Given the description of an element on the screen output the (x, y) to click on. 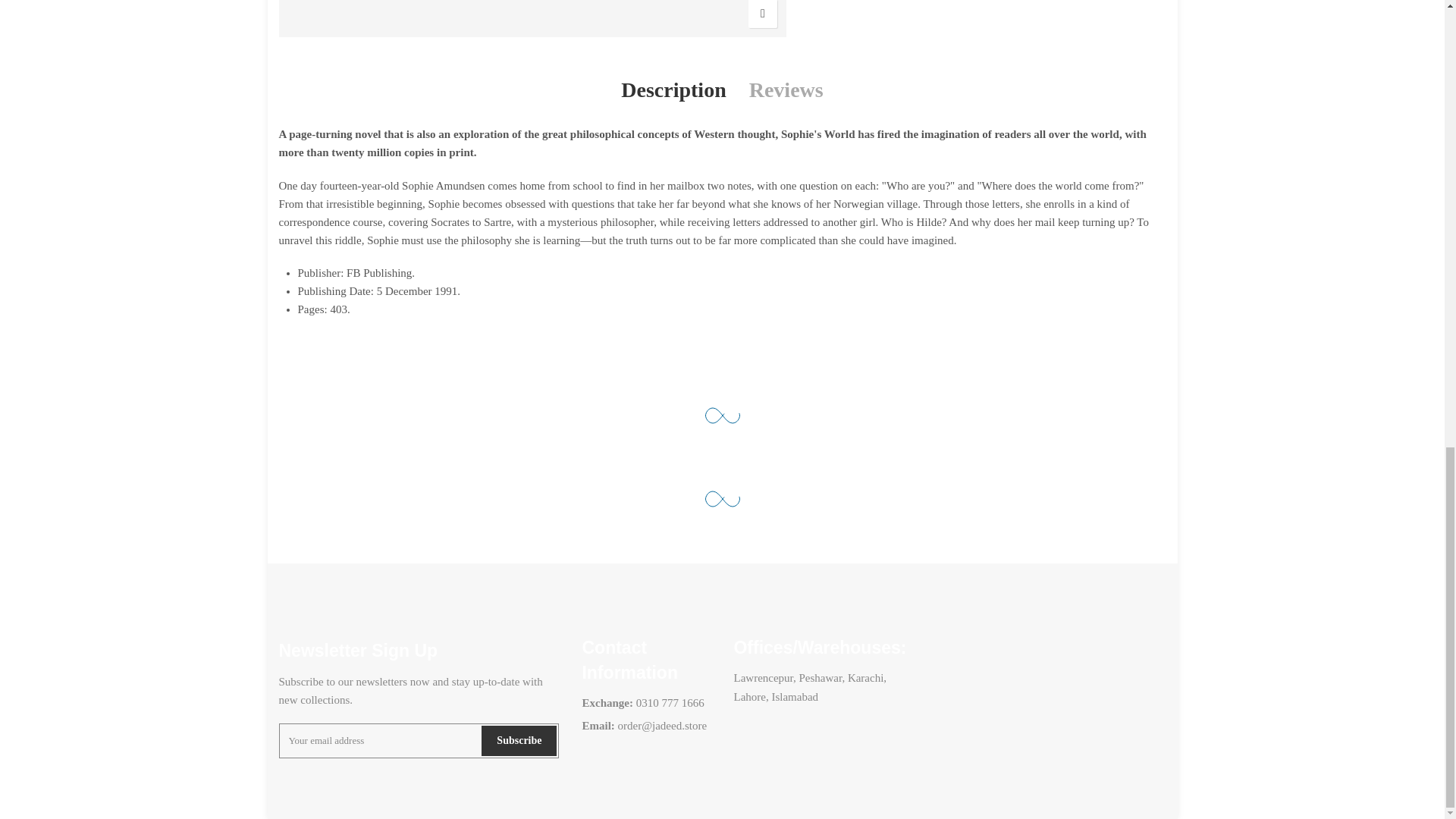
Description (673, 91)
Reviews (786, 91)
Subscribe (518, 740)
0310 777 1666 (668, 702)
